Given the description of an element on the screen output the (x, y) to click on. 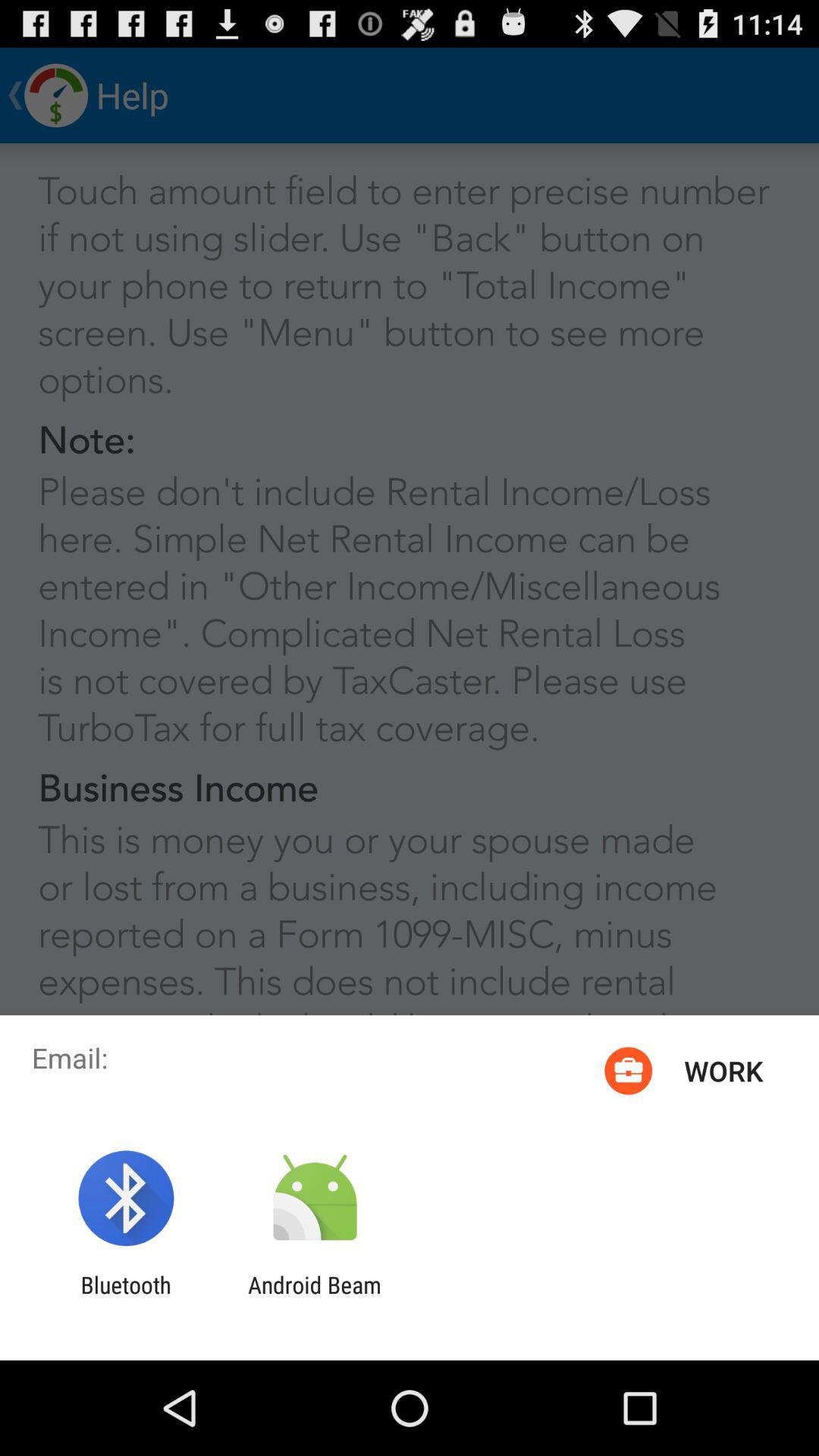
flip to android beam icon (314, 1298)
